Given the description of an element on the screen output the (x, y) to click on. 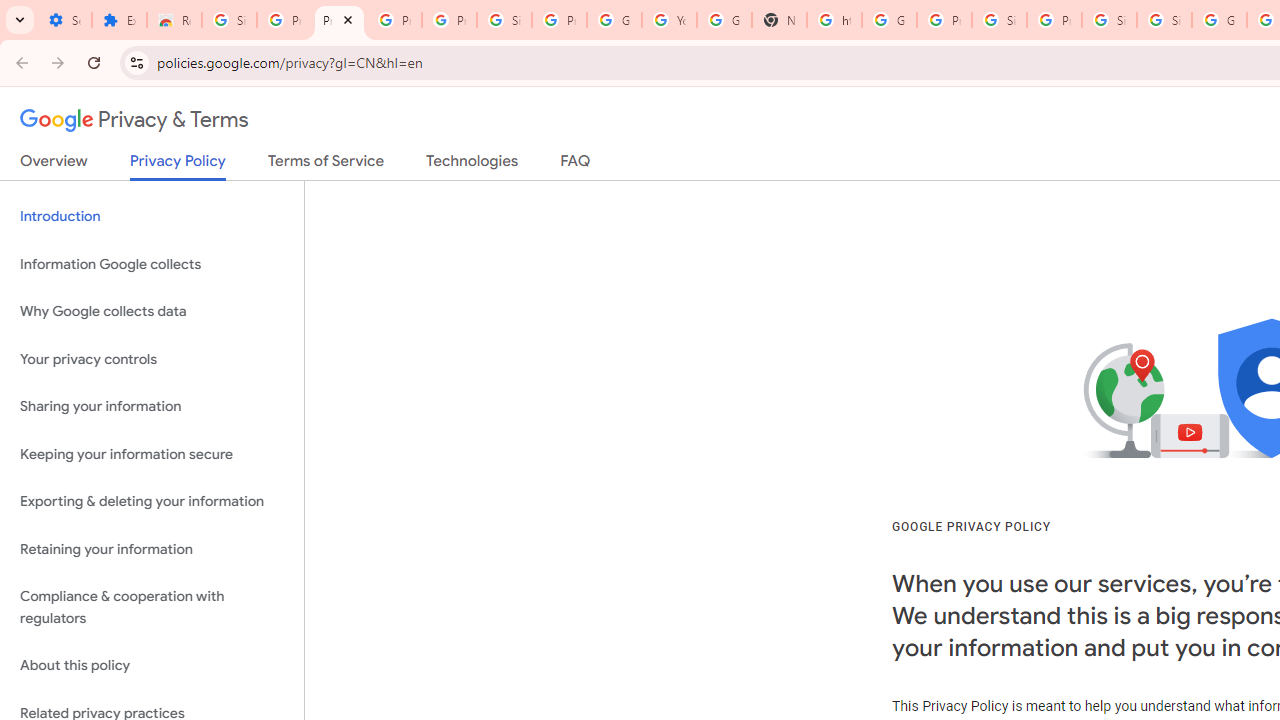
Compliance & cooperation with regulators (152, 607)
Your privacy controls (152, 358)
https://scholar.google.com/ (833, 20)
Reviews: Helix Fruit Jump Arcade Game (174, 20)
Extensions (119, 20)
Retaining your information (152, 548)
Exporting & deleting your information (152, 502)
